Given the description of an element on the screen output the (x, y) to click on. 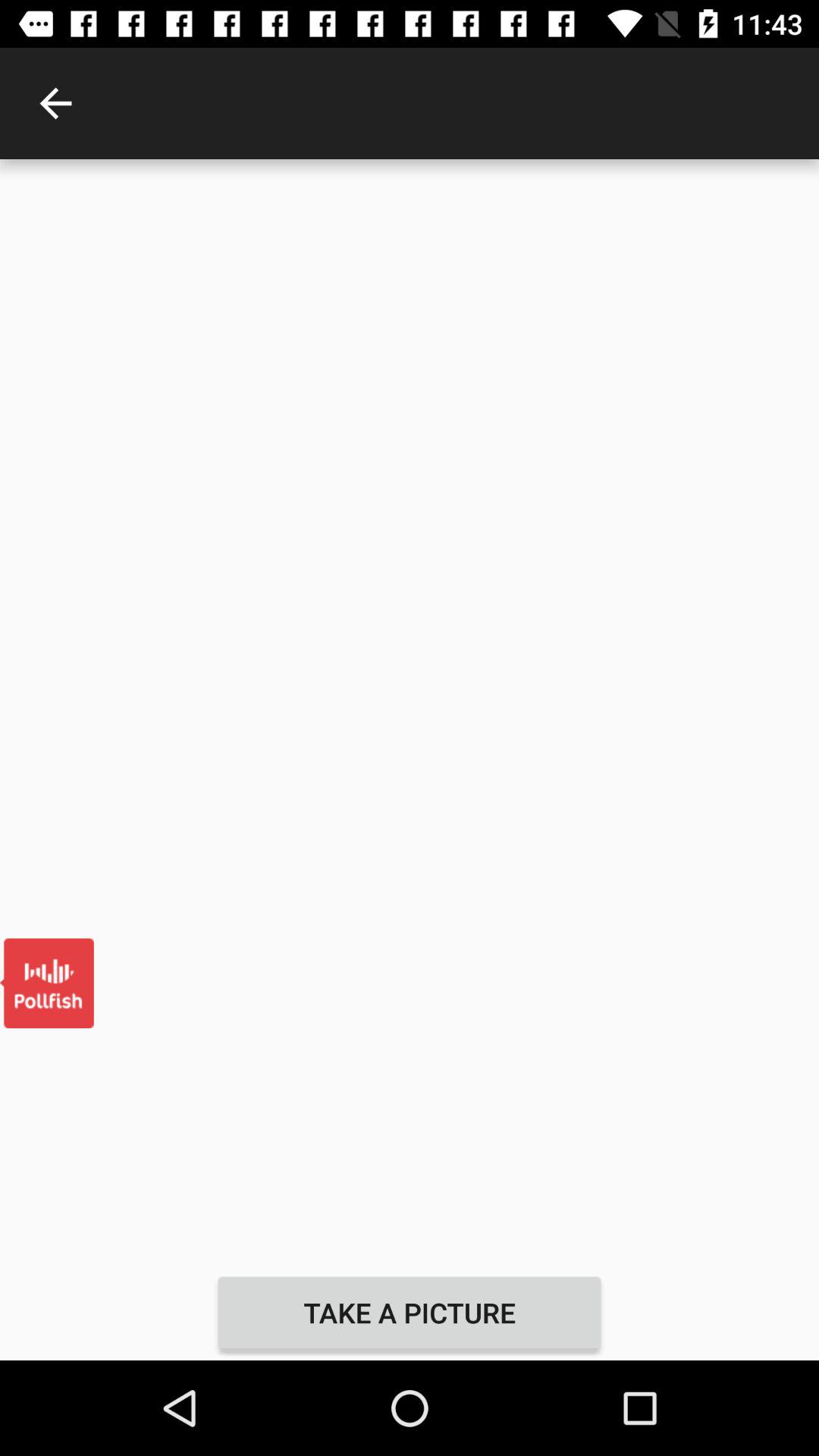
press button at the bottom left corner (46, 983)
